Given the description of an element on the screen output the (x, y) to click on. 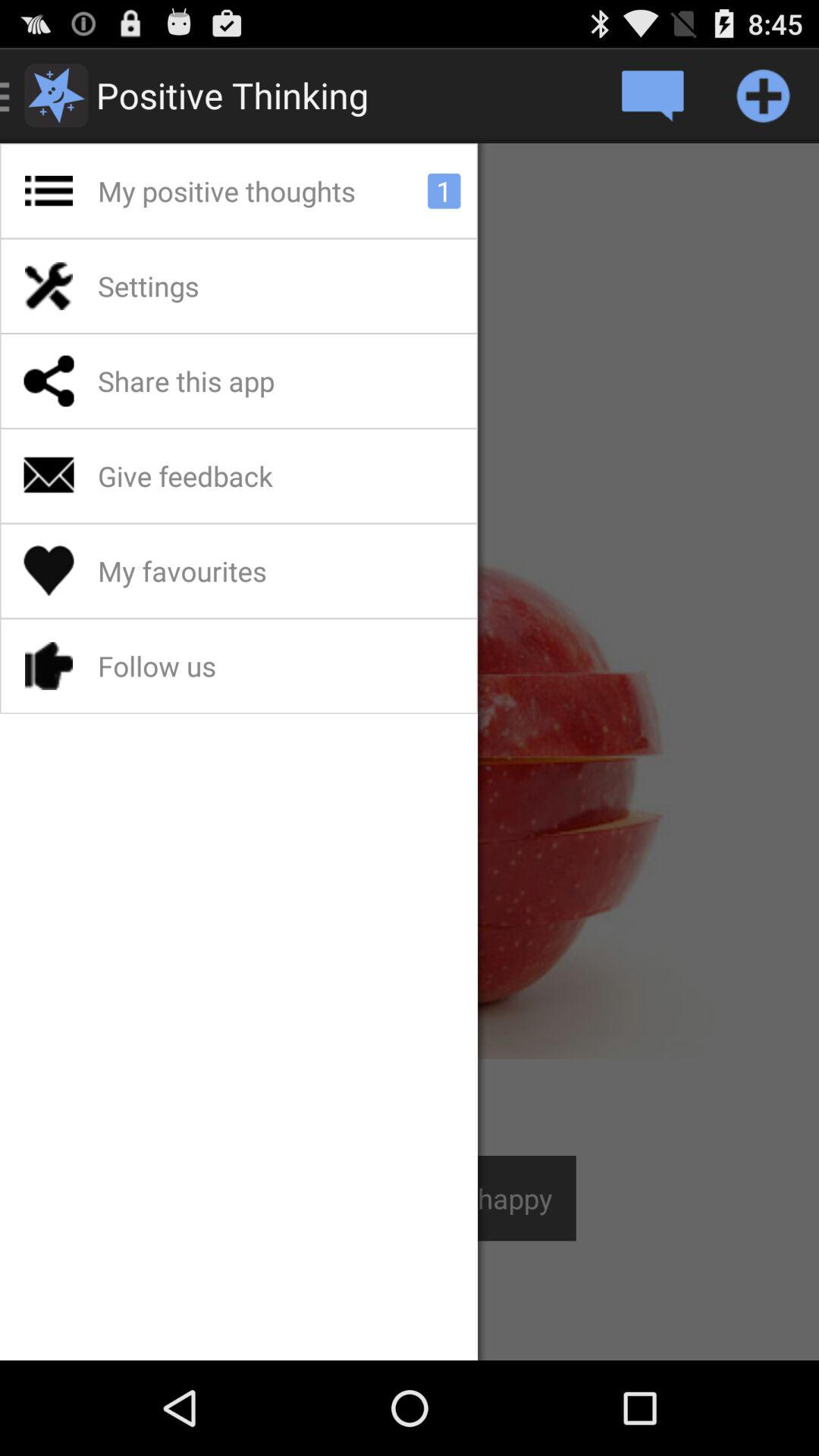
add a thought (763, 95)
